Given the description of an element on the screen output the (x, y) to click on. 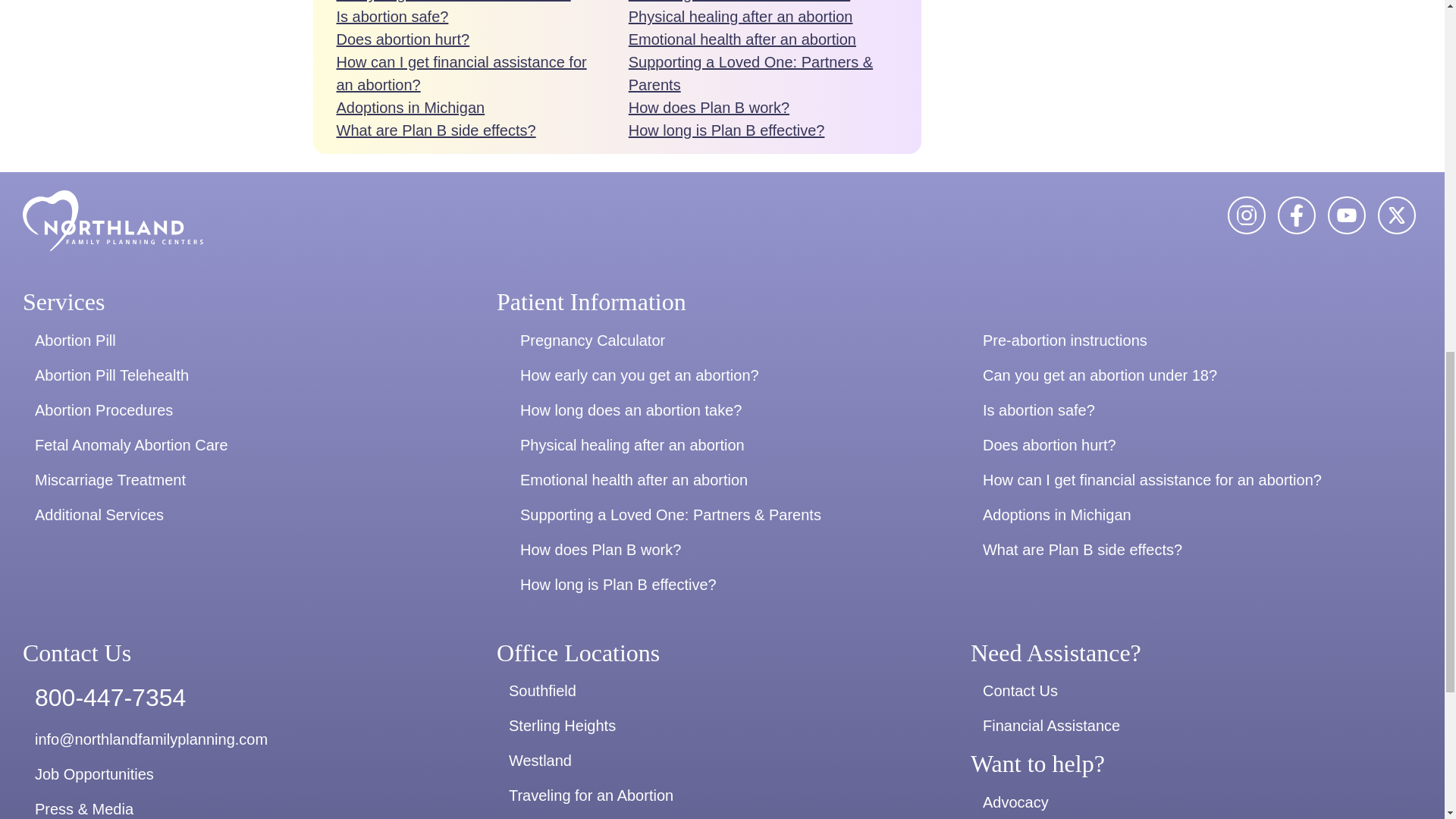
Follow us on X.com (1396, 215)
Call Northland Family Planning. (248, 697)
Visit us on Twitter (1296, 215)
Subscribe to us on YouTube (1346, 215)
Email Northland Family Planning. (248, 738)
Visit us on Instagram (1246, 215)
